Given the description of an element on the screen output the (x, y) to click on. 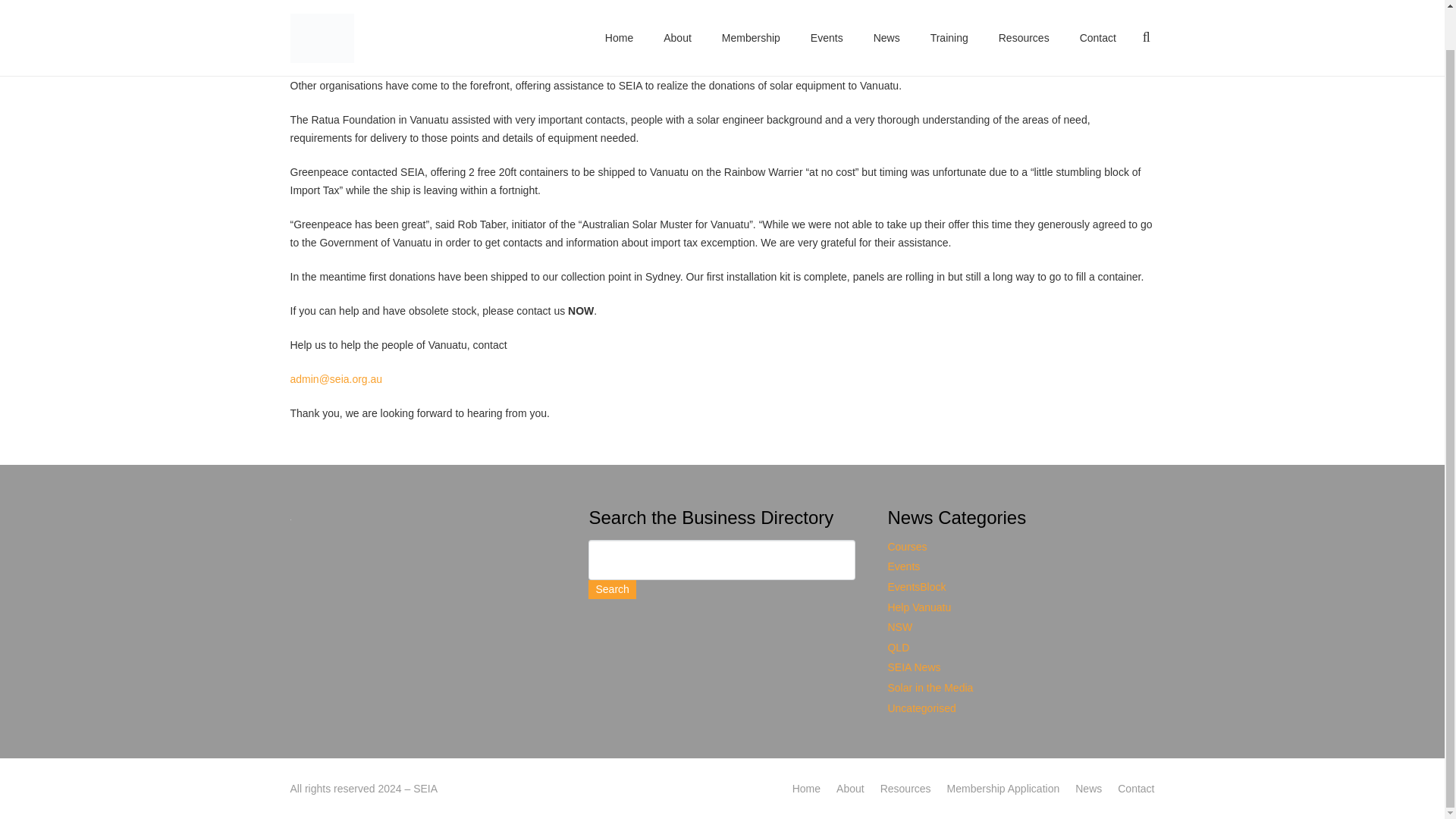
Resources (1024, 17)
News (887, 17)
Search (611, 588)
About (676, 17)
Contact (1097, 17)
Search (611, 588)
Training (949, 17)
Events (826, 17)
Courses (906, 546)
Search (611, 588)
Membership (750, 17)
Home (618, 17)
